Given the description of an element on the screen output the (x, y) to click on. 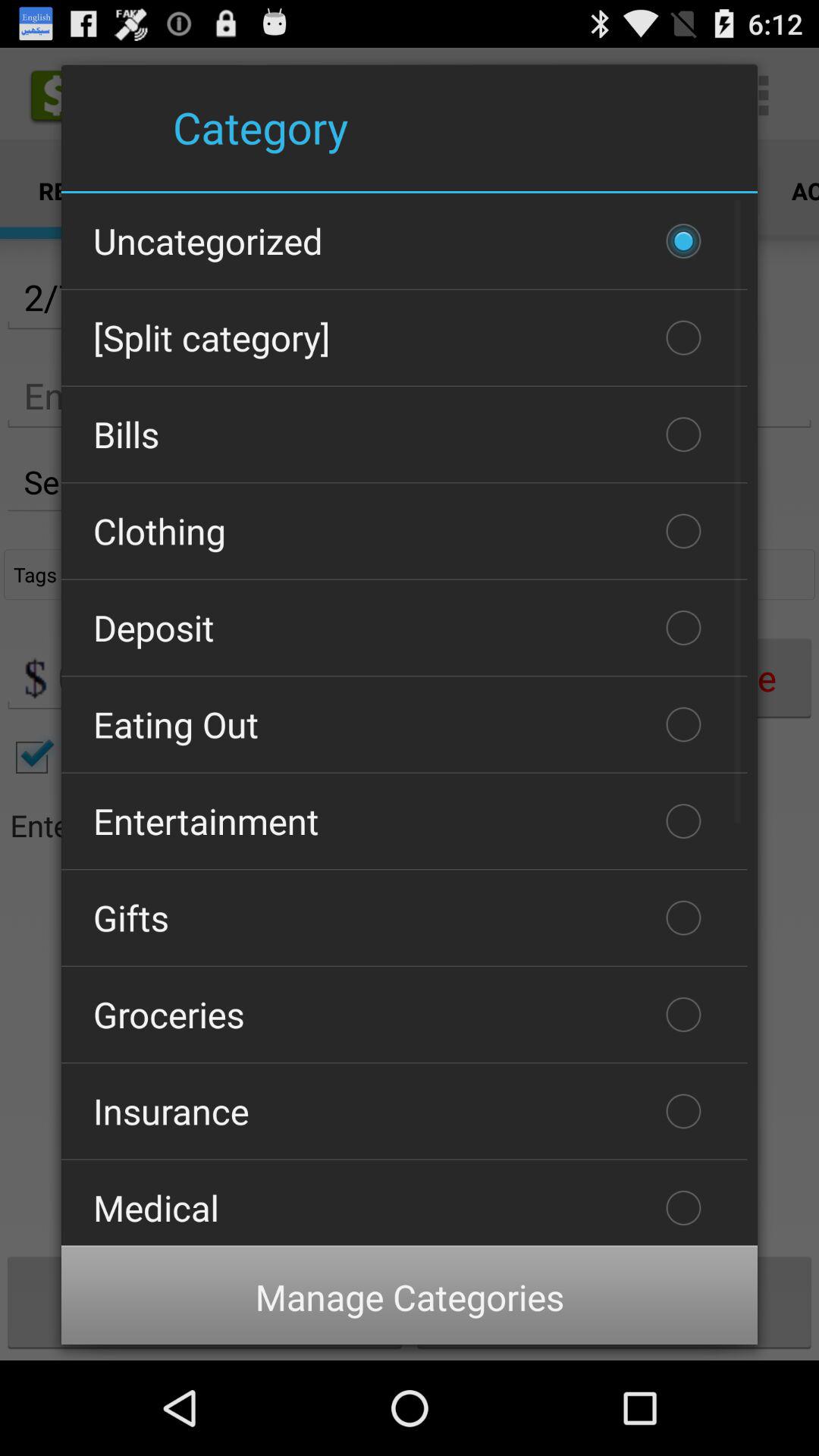
swipe to [split category] (404, 337)
